Given the description of an element on the screen output the (x, y) to click on. 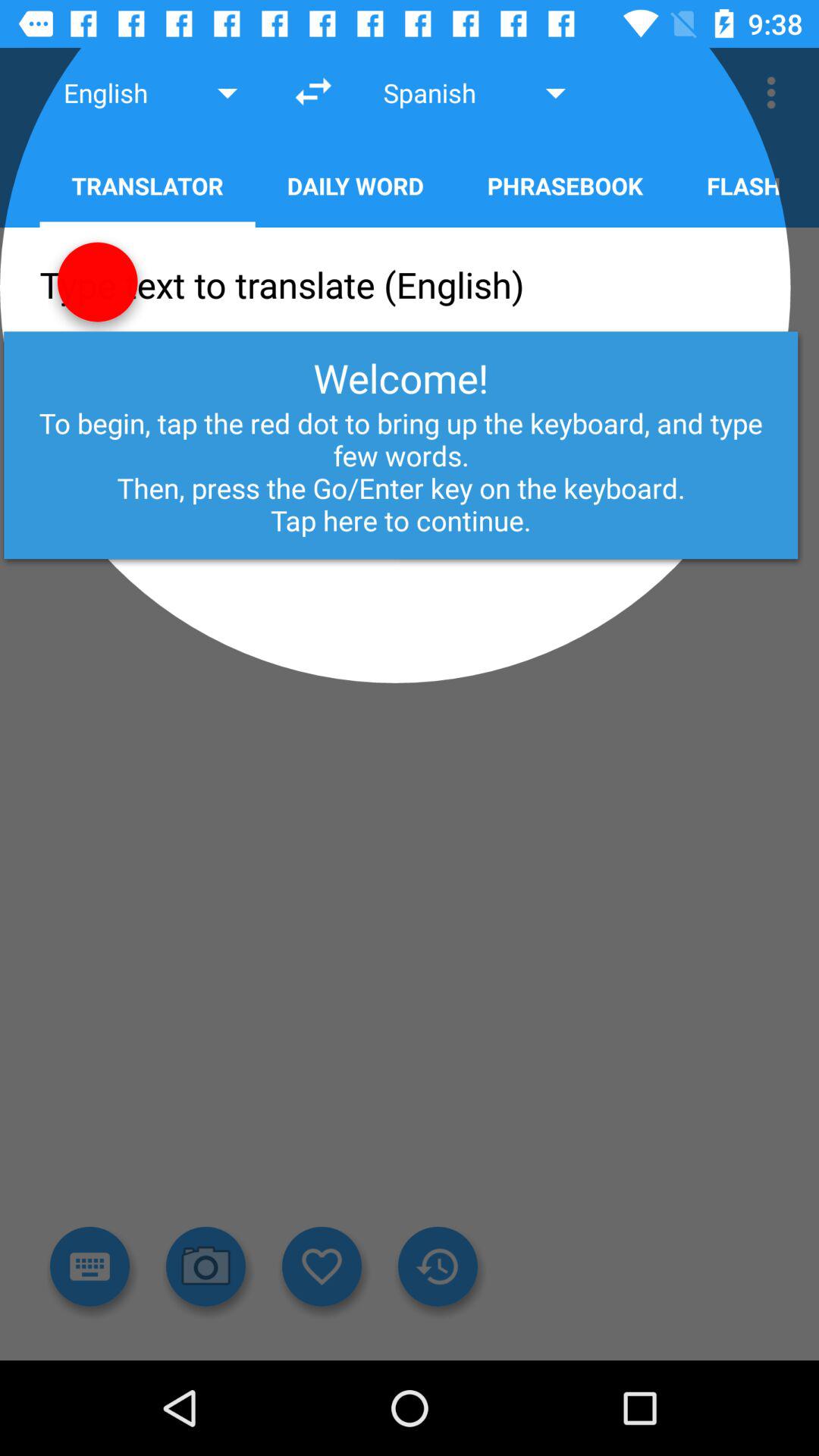
click on english drop down field which is at top left corner (153, 93)
select the text few words (409, 450)
select the text few words (409, 450)
click on the button next to translator (355, 182)
click on english above translator (153, 93)
click on daily word on the right side of translator (355, 182)
click on the button beside keyboard symbol (206, 1266)
click on the second drop down which is on the right (477, 93)
